Given the description of an element on the screen output the (x, y) to click on. 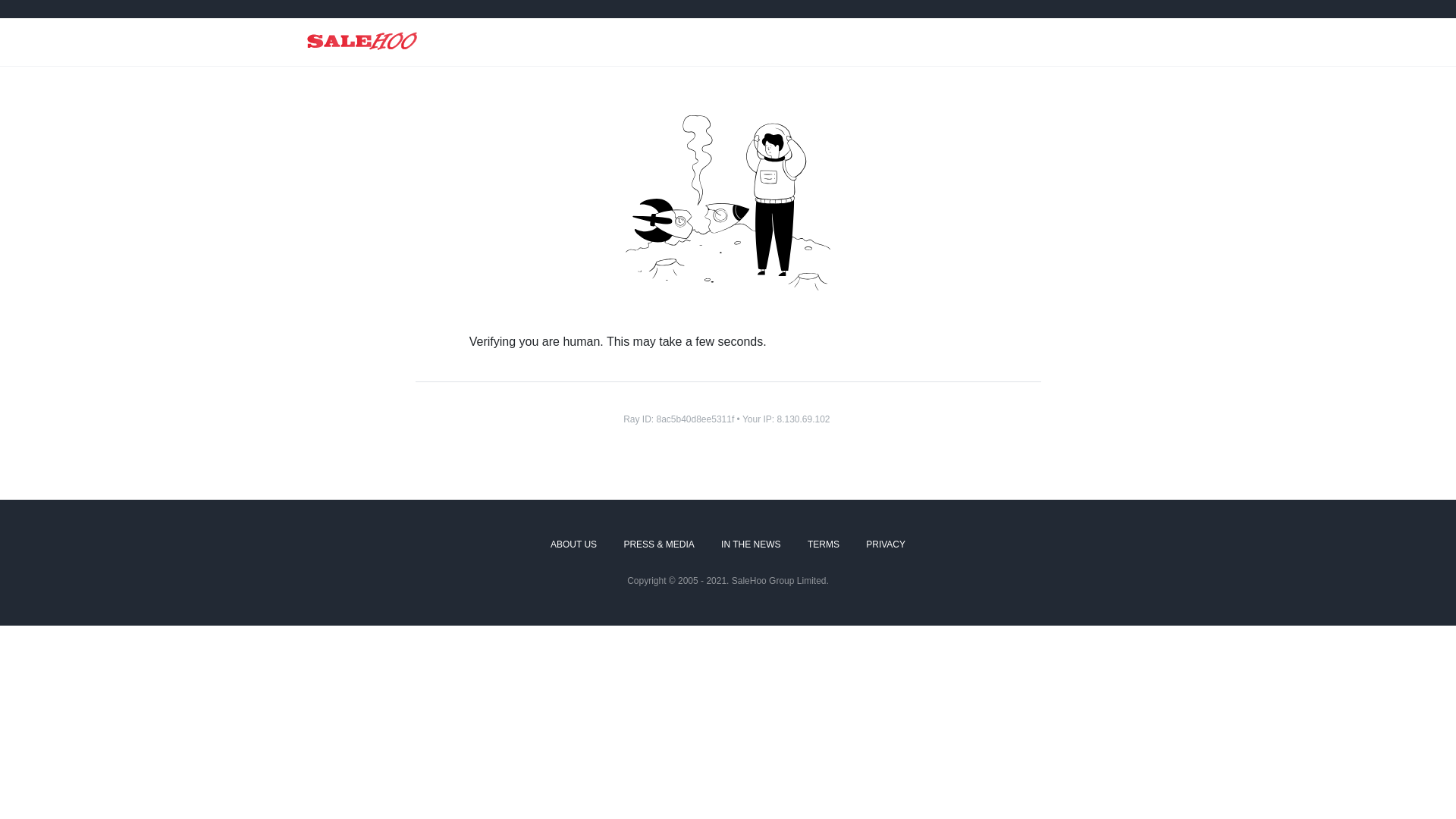
TERMS (824, 545)
IN THE NEWS (750, 545)
ABOUT US (573, 545)
PRIVACY (885, 545)
